Given the description of an element on the screen output the (x, y) to click on. 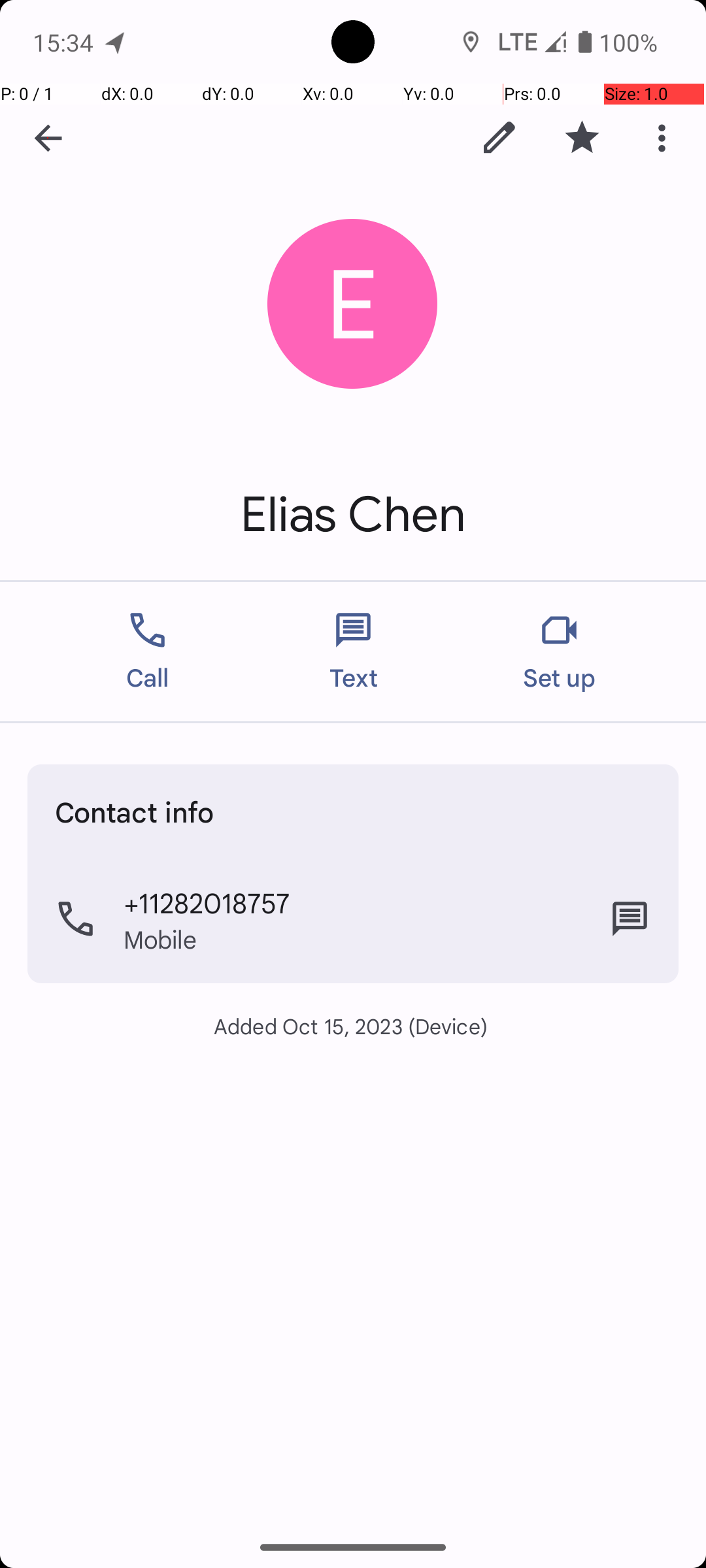
Set up Element type: android.widget.TextView (559, 651)
Elias Chen Element type: android.widget.TextView (352, 514)
Call Mobile +11282018757 Element type: android.widget.RelativeLayout (352, 919)
Added Oct 15, 2023 (Device)  Element type: android.widget.TextView (352, 1025)
+11282018757 Element type: android.widget.TextView (206, 901)
Text Mobile +11282018757 Element type: android.widget.Button (629, 919)
